Given the description of an element on the screen output the (x, y) to click on. 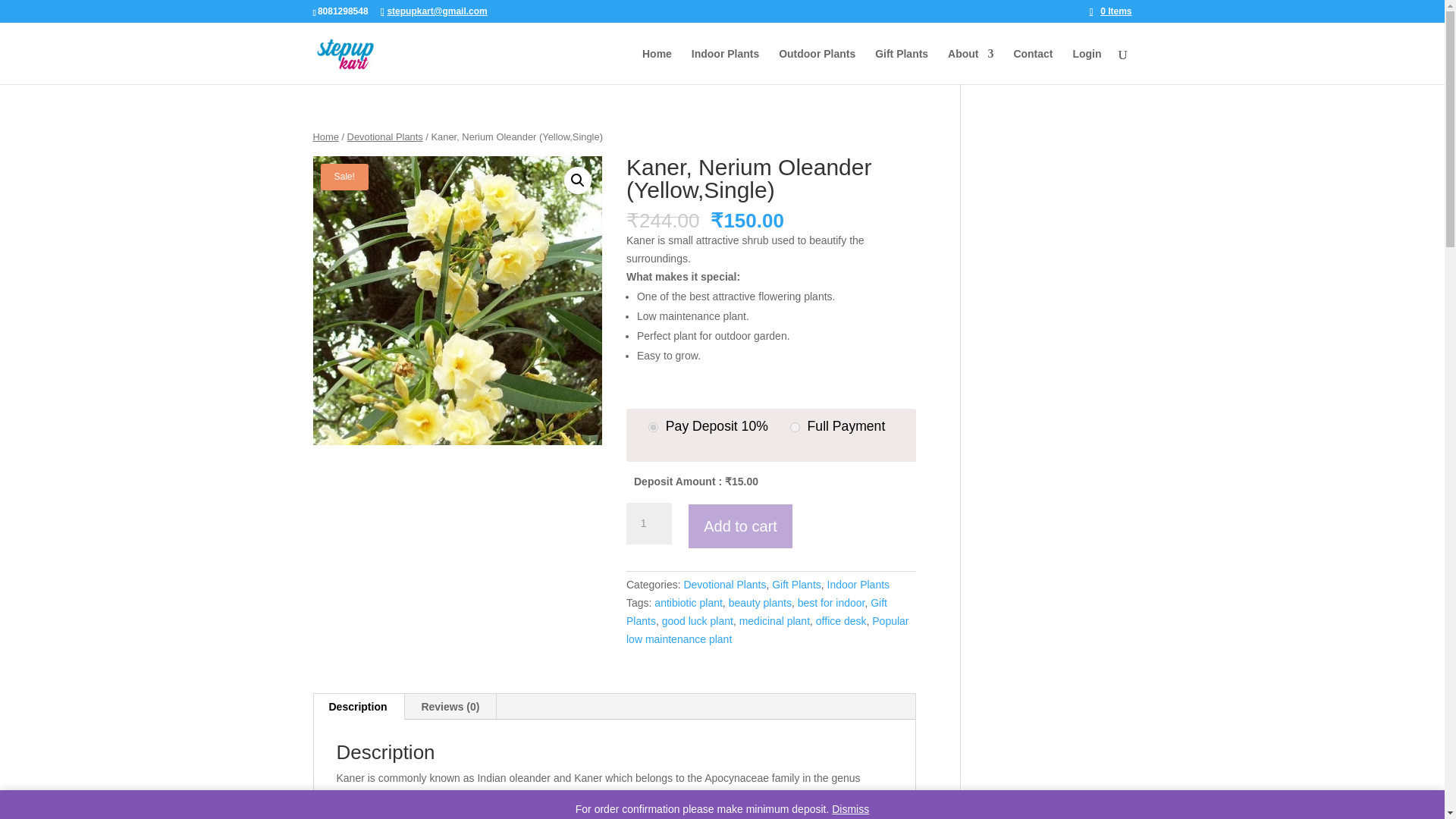
0 Items (1110, 10)
antibiotic plant (687, 603)
1 (648, 523)
Indoor Plants (724, 66)
About (969, 66)
Devotional Plants (723, 584)
Devotional Plants (385, 136)
beauty plants (760, 603)
Gift Plants (796, 584)
no-deposit (794, 427)
Indoor Plants (858, 584)
Add to cart (740, 526)
kaner yellow (457, 300)
Gift Plants (901, 66)
Home (325, 136)
